Given the description of an element on the screen output the (x, y) to click on. 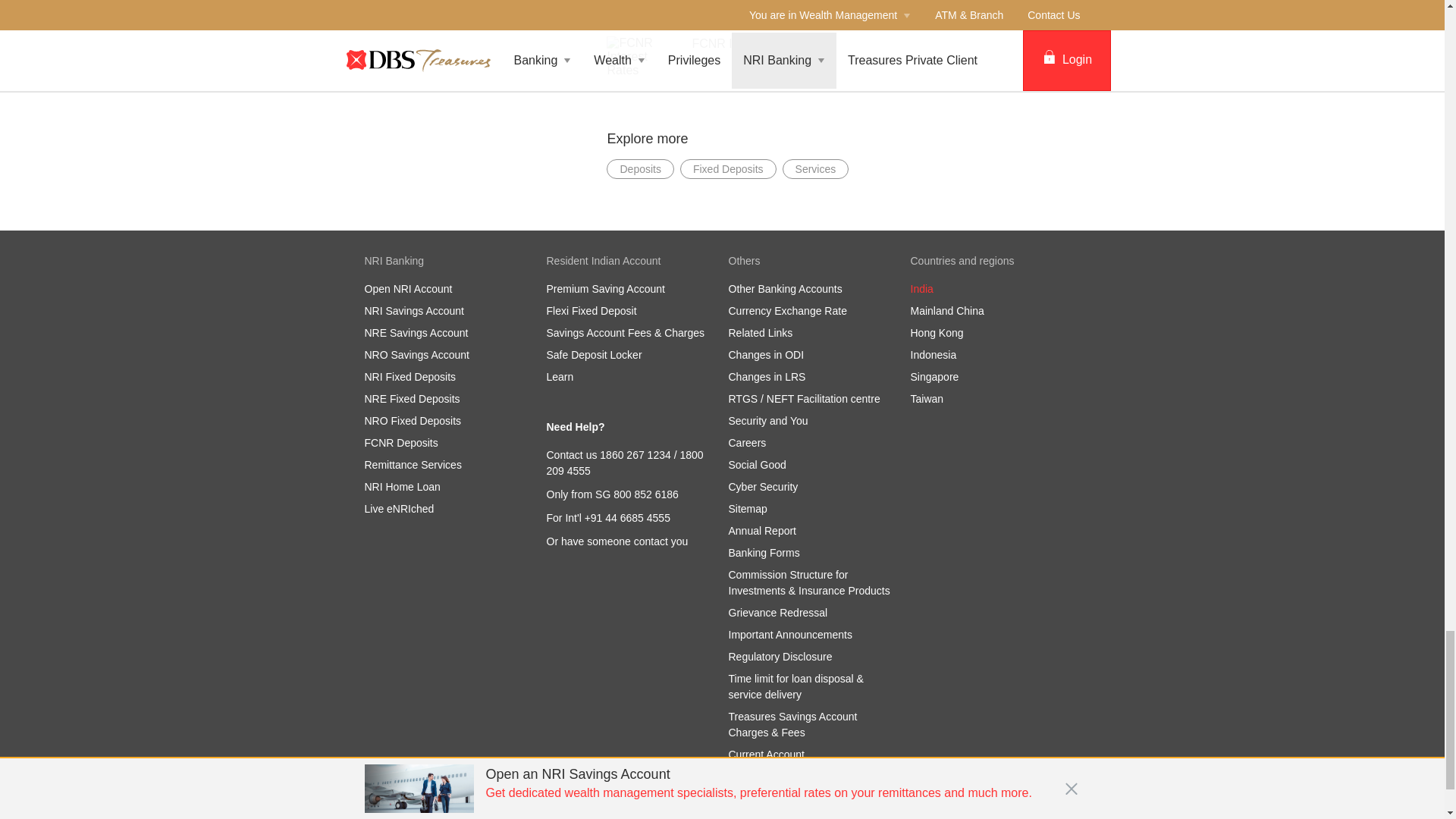
800 852 6186 (645, 494)
1800 209 4555 (624, 462)
1860 267 1234 (634, 454)
contact you (660, 541)
